Given the description of an element on the screen output the (x, y) to click on. 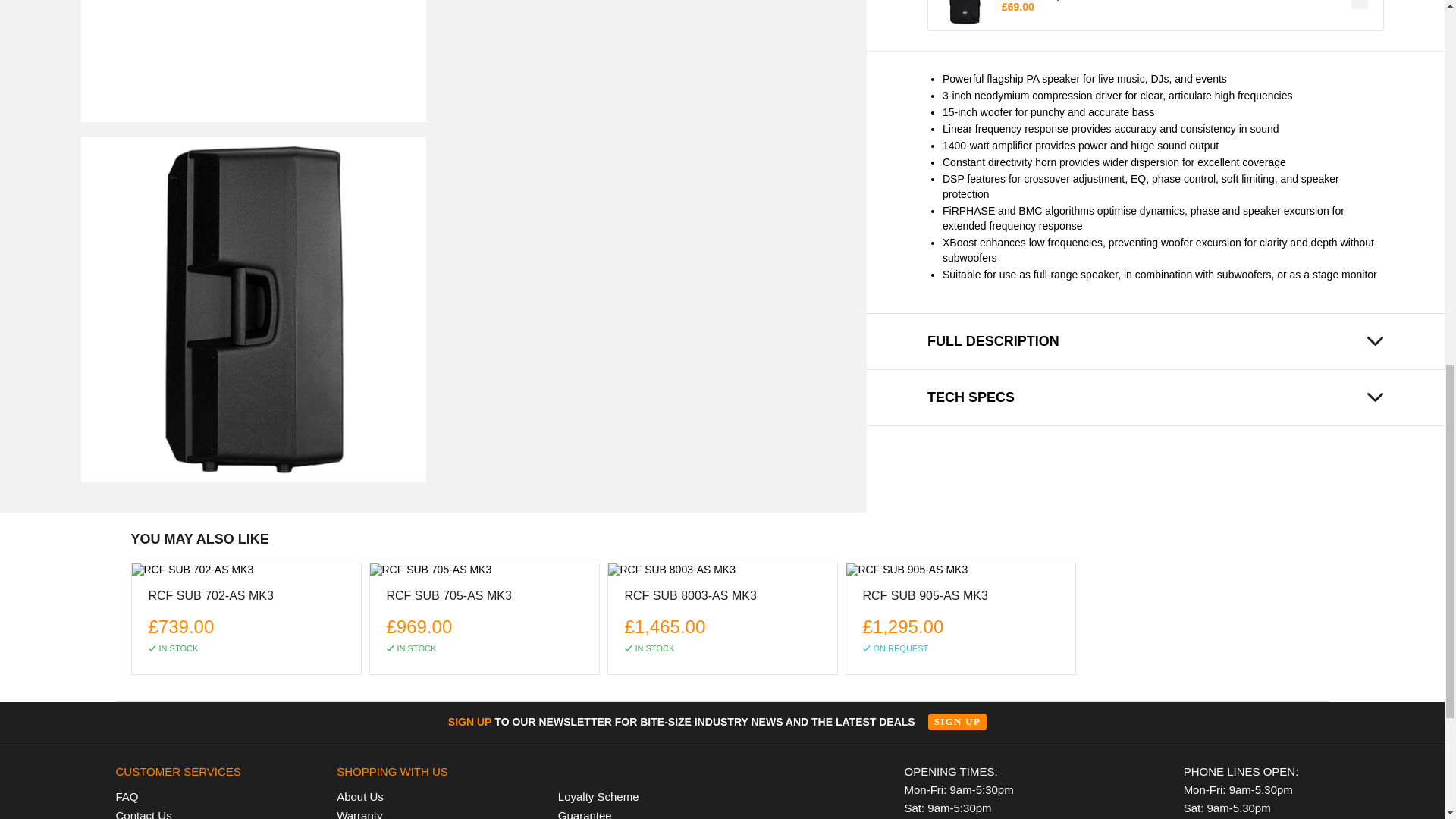
RCF SUB 702-AS MK3 (246, 569)
RCF ART 735-A MK5 (252, 309)
RCF SUB 705-AS MK3 (483, 569)
RCF SUB 705-AS MK3 (449, 598)
RCF SUB 702-AS MK3 (210, 598)
RCF ART 735-A MK5 (252, 61)
RCF ART Speaker Cover for 725 (964, 13)
